Given the description of an element on the screen output the (x, y) to click on. 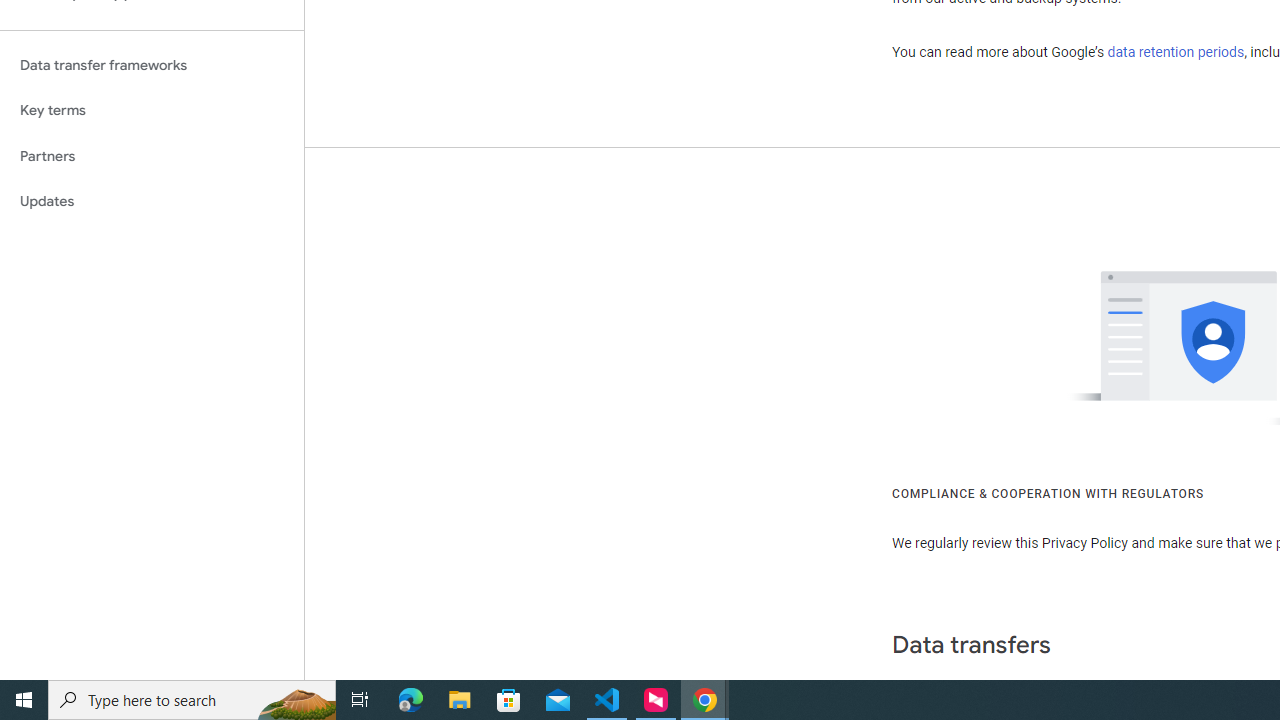
data retention periods (1176, 52)
